Given the description of an element on the screen output the (x, y) to click on. 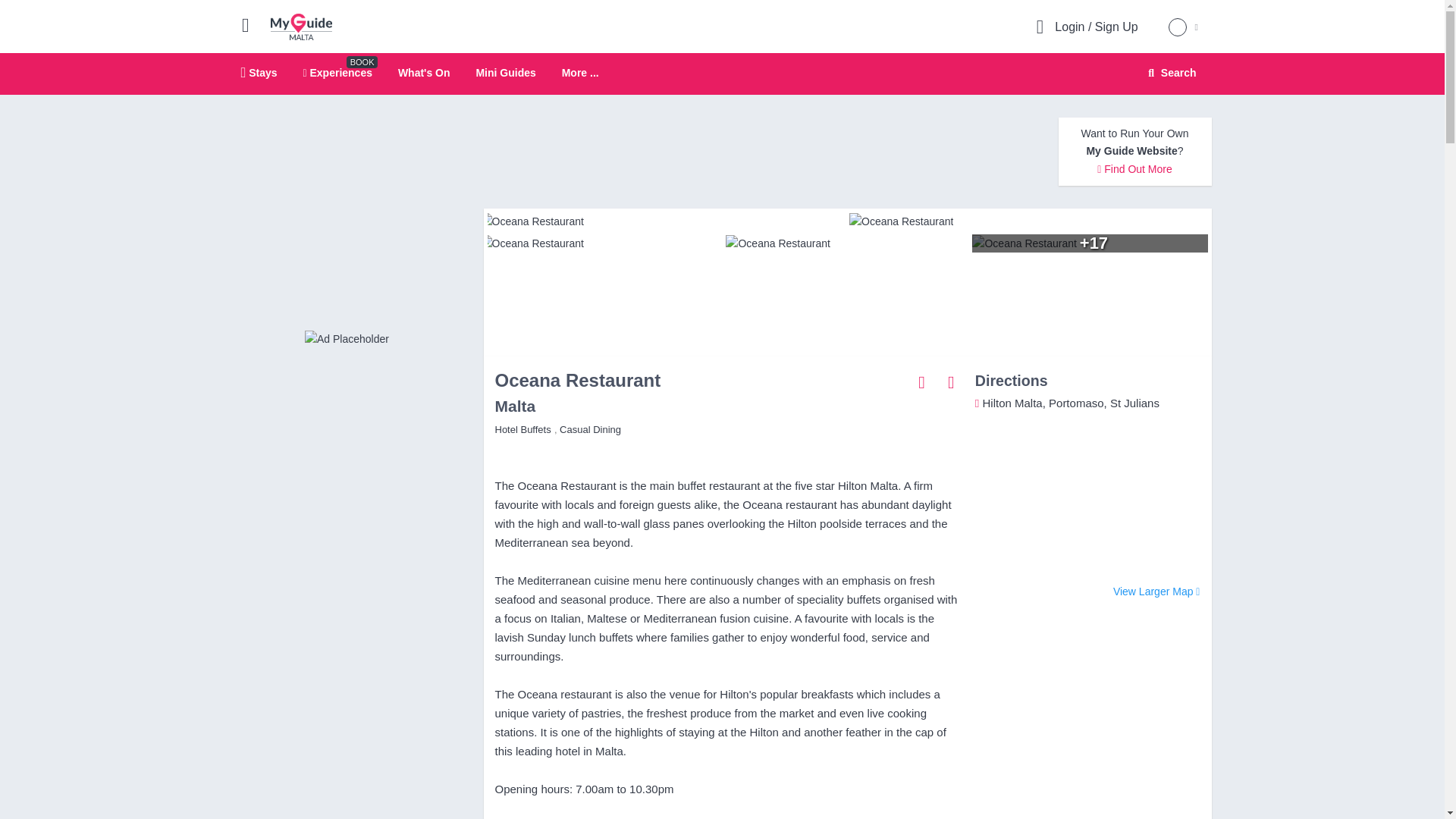
Oceana Restaurant (1093, 243)
Search Website (1170, 73)
Larger Map for Company: Oceana Restaurant Malta (1156, 592)
View All Experiences (346, 337)
Stays (259, 72)
Search (1169, 72)
Experiences (337, 72)
More ... (721, 74)
Mini Guides (580, 72)
What's On (505, 72)
Toggle Menu (423, 72)
Share with Friends (251, 24)
Oceana Restaurant (922, 381)
Oceana Restaurant (1031, 221)
